Given the description of an element on the screen output the (x, y) to click on. 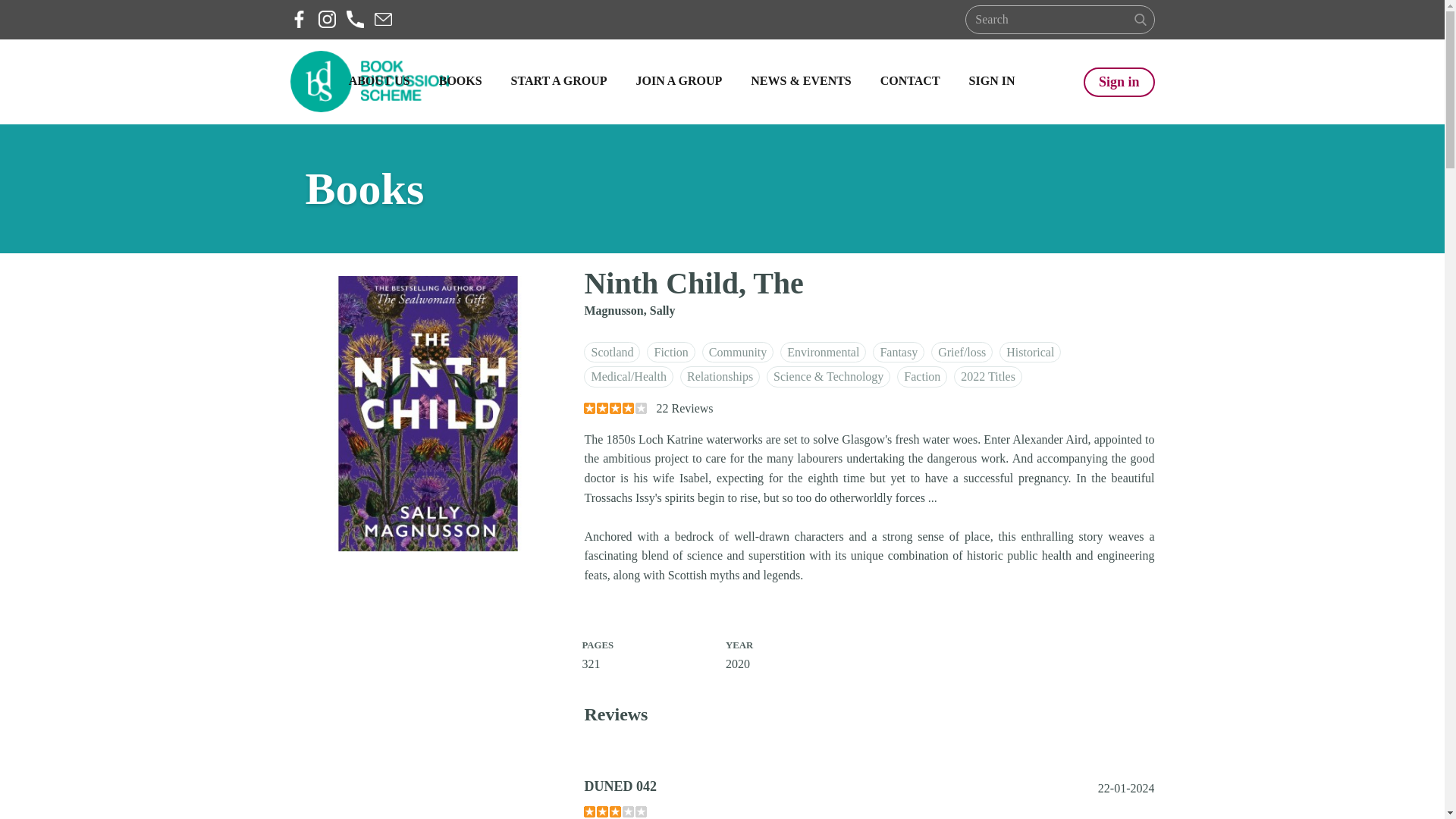
facebook (298, 18)
Historical (1029, 352)
START A GROUP (559, 81)
Ninth Child, The (427, 413)
Relationships (719, 376)
Faction (921, 376)
SIGN IN (991, 81)
2022 Titles (987, 376)
BOOKS (459, 81)
CONTACT (910, 81)
Fiction (670, 352)
JOIN A GROUP (678, 81)
Fantasy (898, 352)
instagram (327, 18)
Email (382, 18)
